Given the description of an element on the screen output the (x, y) to click on. 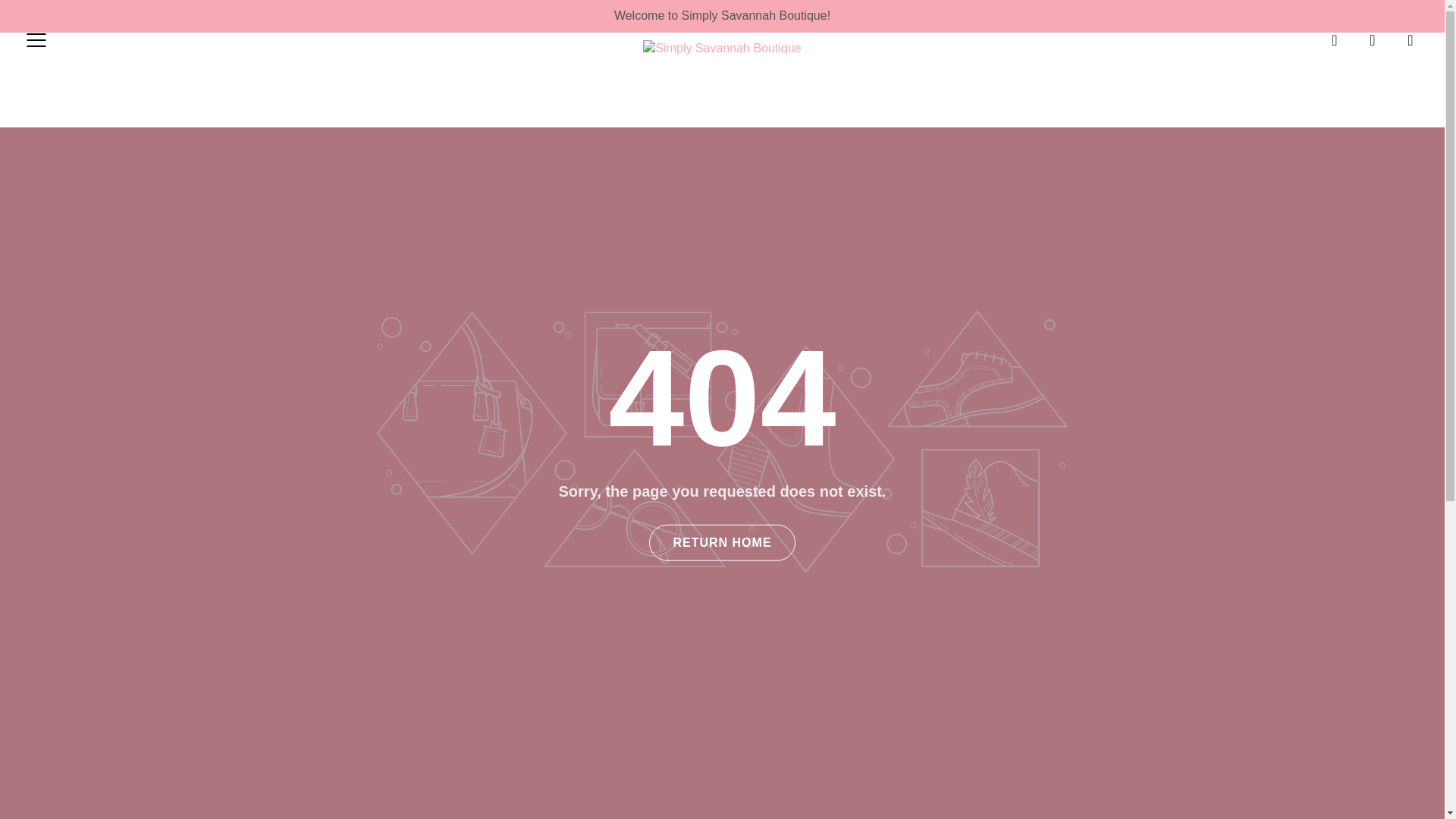
Press space bar to toggle menu (36, 39)
My account (1372, 39)
Search (1334, 39)
You have 0 items in your cart (1410, 39)
